Given the description of an element on the screen output the (x, y) to click on. 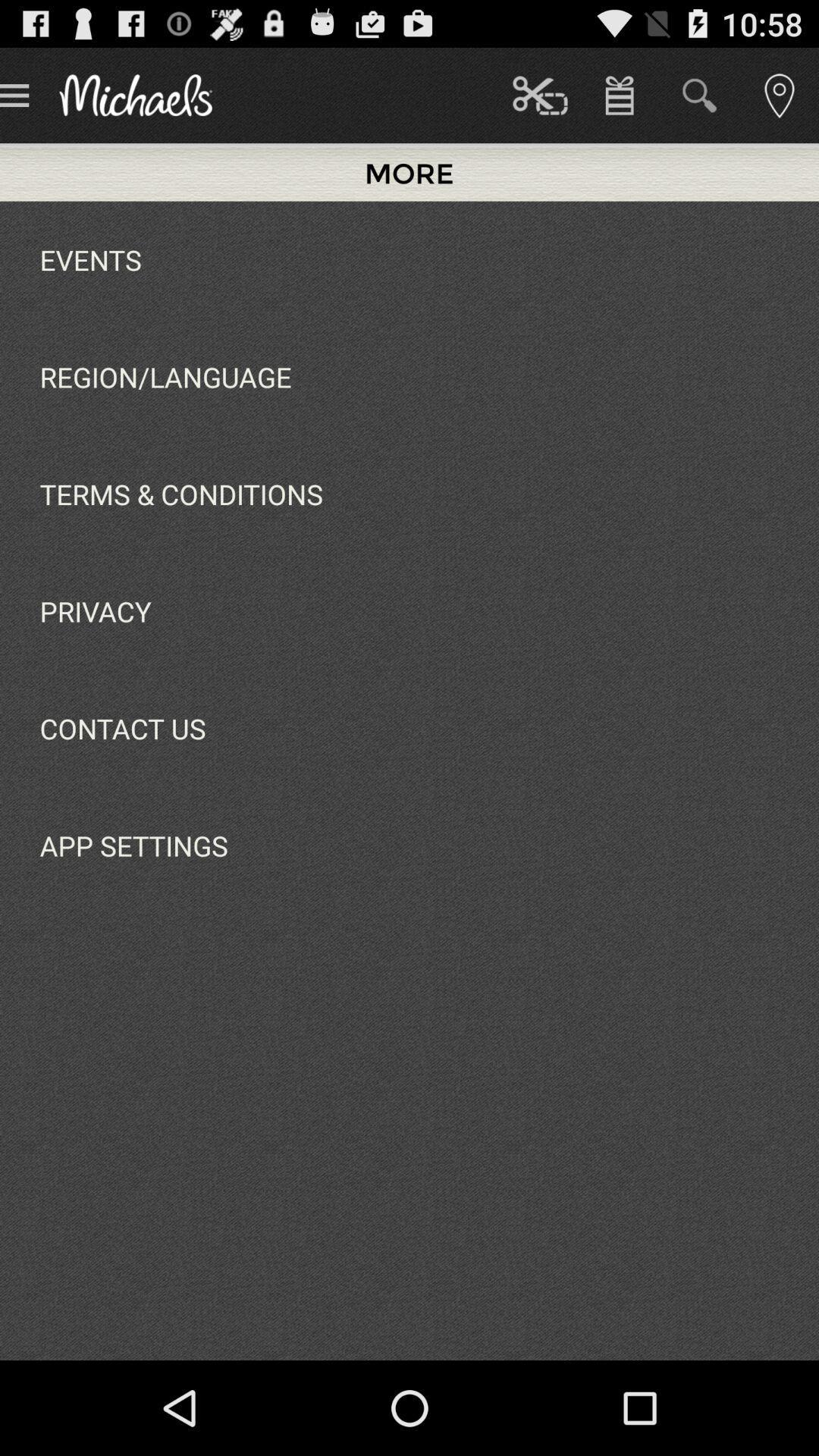
turn on the icon above terms & conditions app (165, 376)
